Given the description of an element on the screen output the (x, y) to click on. 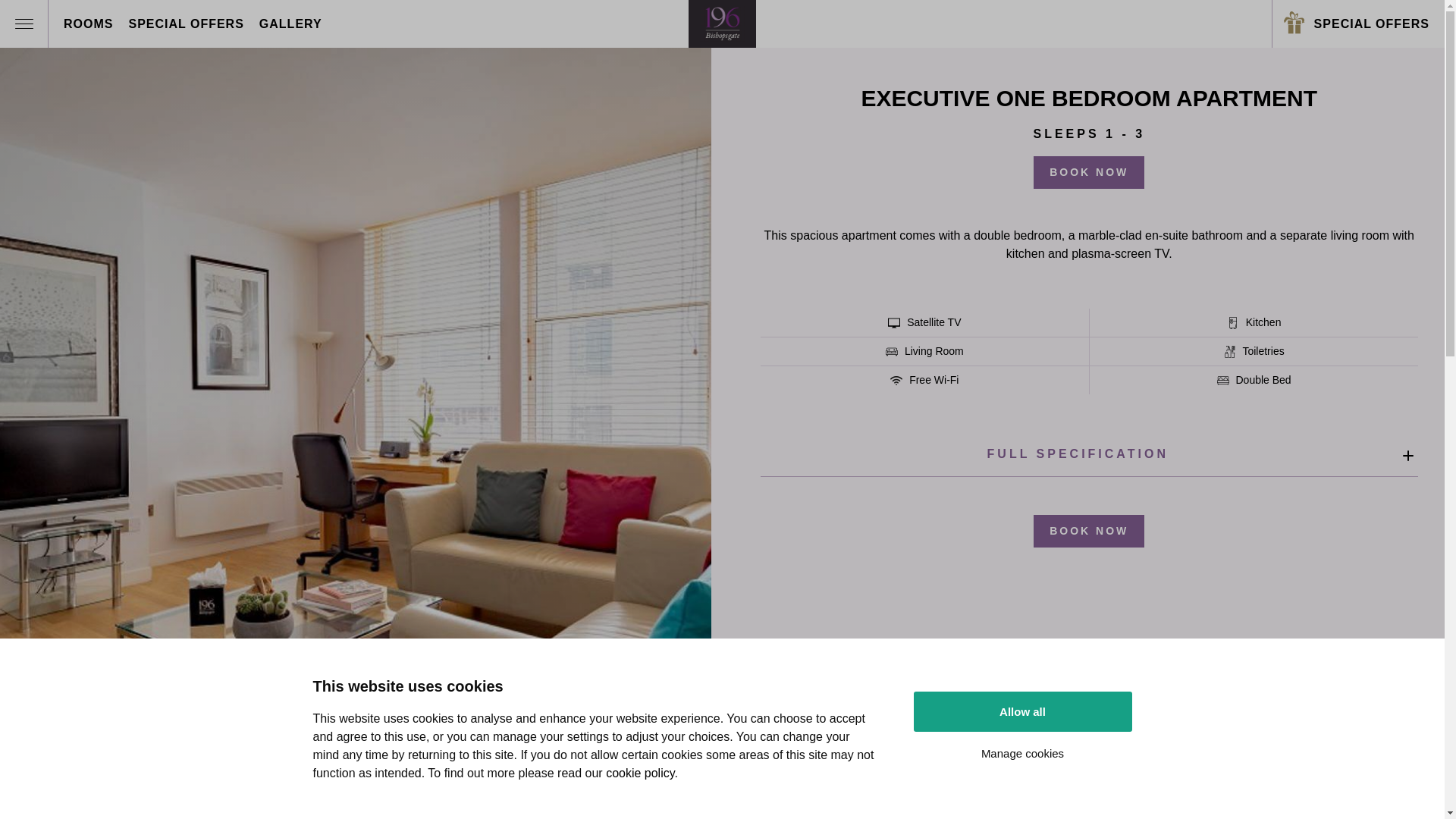
ROOMS Element type: text (87, 23)
GALLERY Element type: text (290, 23)
1 Element type: text (329, 789)
3 Element type: text (374, 789)
BOOK NOW Element type: text (1088, 530)
196 Bishopsgate Element type: hover (722, 23)
Manage cookies Element type: text (1022, 752)
cookie policy Element type: text (639, 772)
2 Element type: text (352, 789)
SPECIAL OFFERS Element type: text (185, 23)
Allow all Element type: text (1022, 711)
BOOK NOW Element type: text (1088, 172)
SPECIAL OFFERS Element type: text (1358, 22)
